Given the description of an element on the screen output the (x, y) to click on. 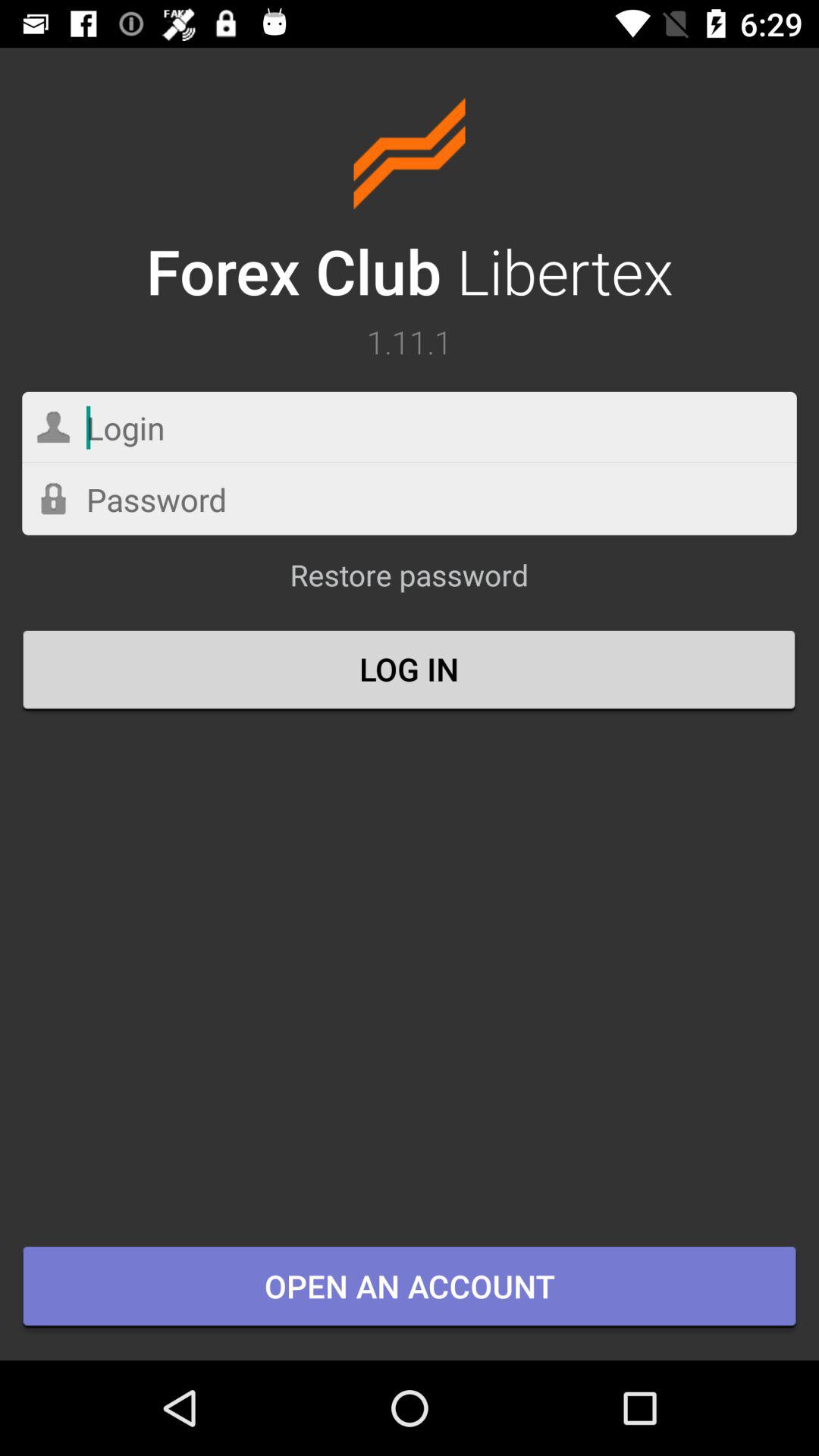
swipe to open an account (409, 1287)
